Given the description of an element on the screen output the (x, y) to click on. 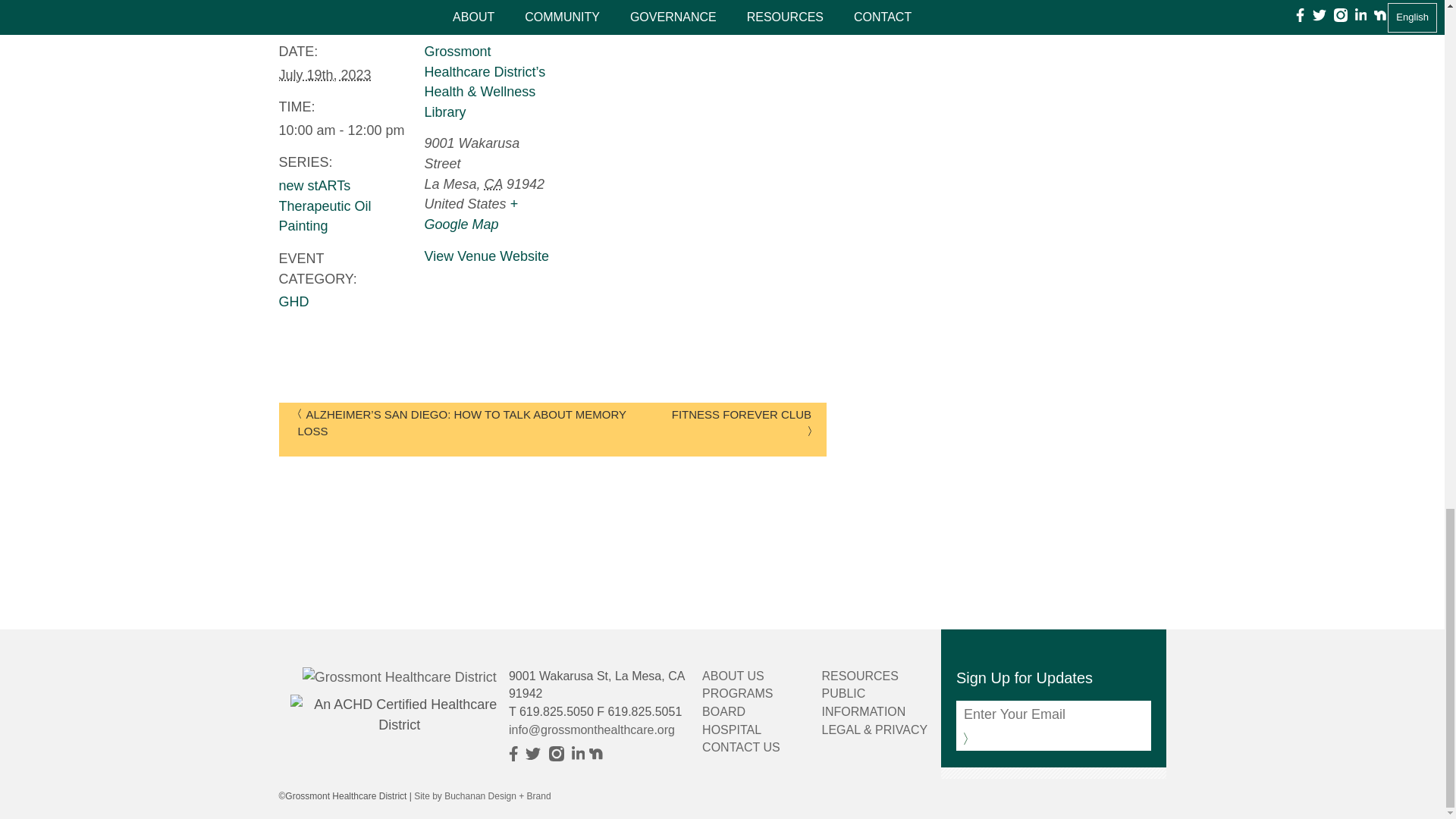
2023-07-19 (342, 130)
Click to view a Google Map (471, 213)
California (493, 183)
new stARTs Therapeutic Oil Painting (325, 205)
2023-07-19 (325, 74)
